Given the description of an element on the screen output the (x, y) to click on. 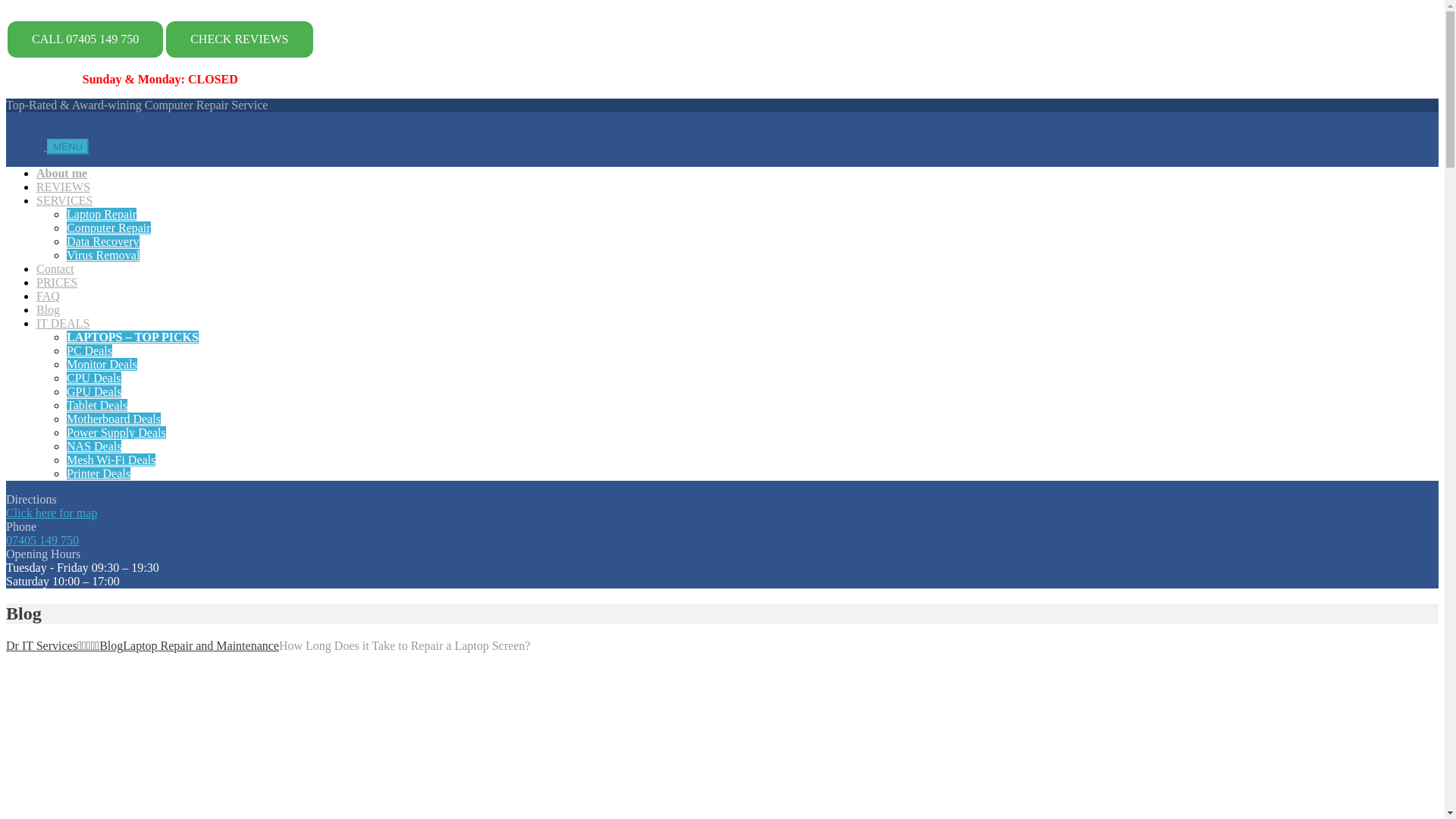
Mesh Wi-Fi Deals (110, 459)
About me (61, 173)
CHECK REVIEWS (239, 39)
Go to Blog. (110, 645)
Blog (47, 309)
Tablet Deals (97, 404)
Go to the Laptop Repair and Maintenance Category archives. (200, 645)
Data Recovery (102, 241)
FAQ (47, 295)
Printer Deals (98, 472)
